Given the description of an element on the screen output the (x, y) to click on. 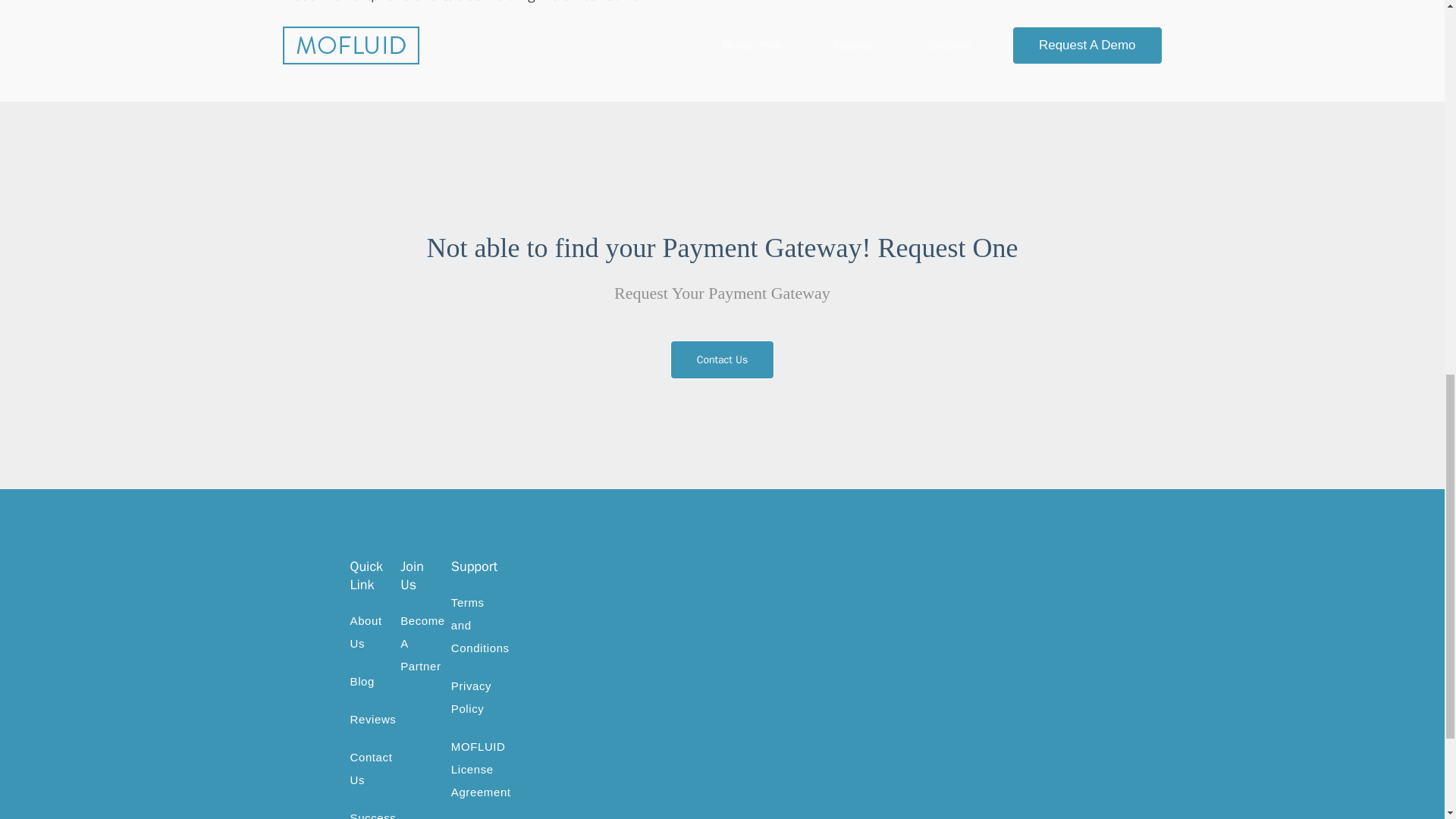
Terms and Conditions (480, 625)
Success Stories (373, 815)
Contact Us (721, 358)
Contact Us (371, 768)
Blog (362, 680)
Reviews (373, 718)
About Us (365, 632)
MOFLUID License Agreement (481, 769)
Privacy Policy (471, 696)
